Given the description of an element on the screen output the (x, y) to click on. 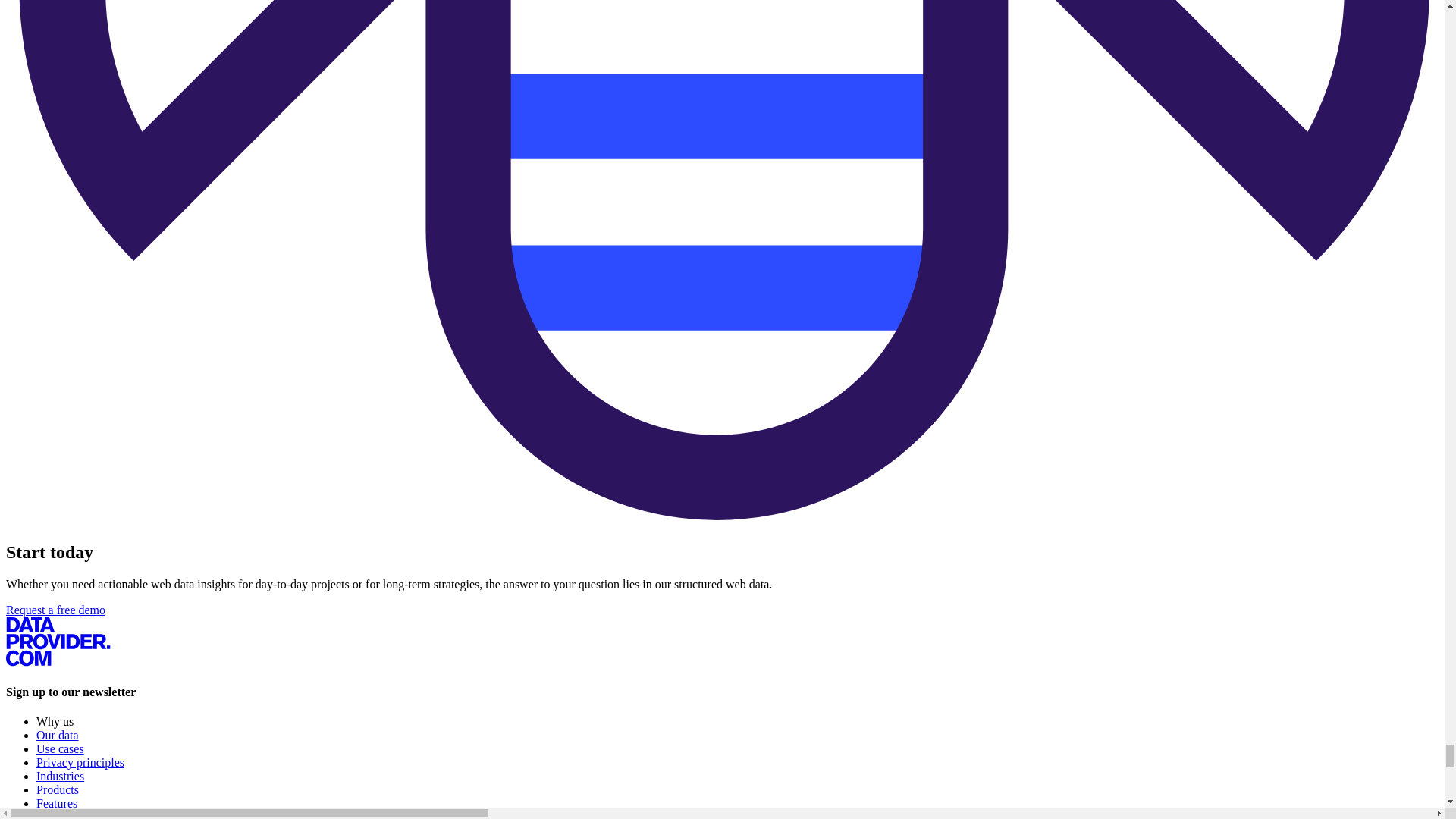
Features (56, 802)
Products (57, 789)
Use cases (60, 748)
Privacy principles (79, 762)
Our data (57, 735)
Home (57, 662)
Industries (60, 775)
